Given the description of an element on the screen output the (x, y) to click on. 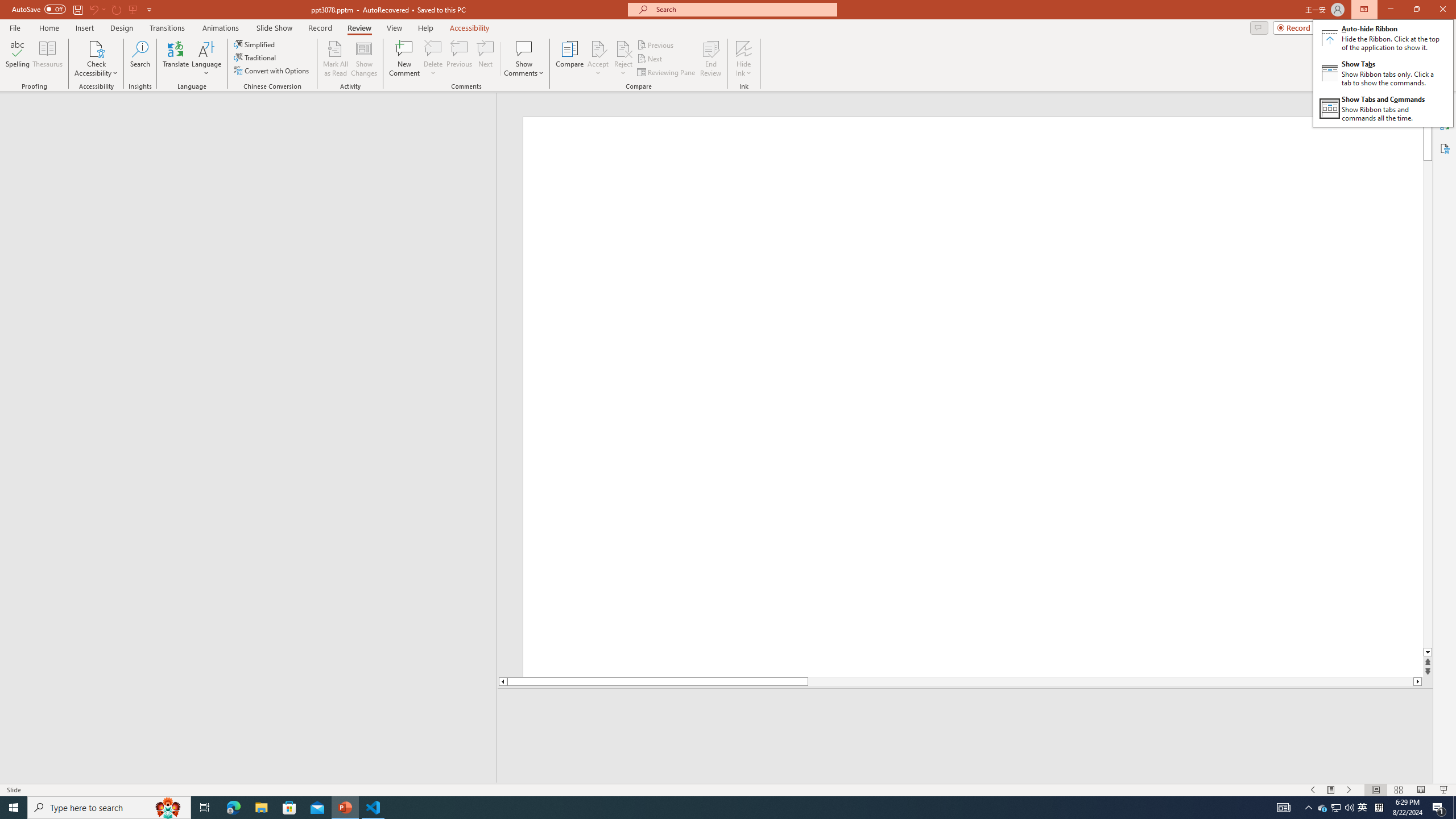
Accept (598, 58)
Translate (175, 58)
Reject (622, 58)
